Given the description of an element on the screen output the (x, y) to click on. 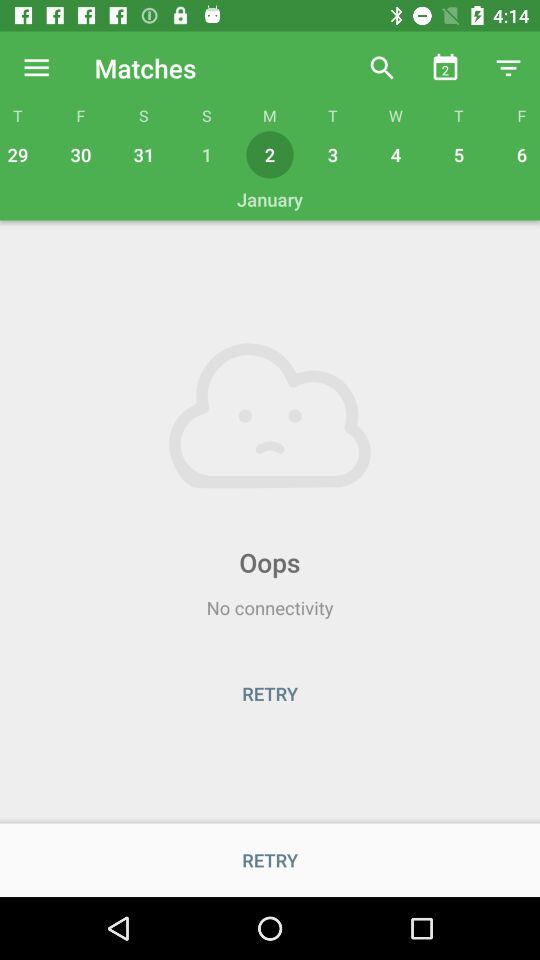
select icon next to 4 (458, 154)
